Given the description of an element on the screen output the (x, y) to click on. 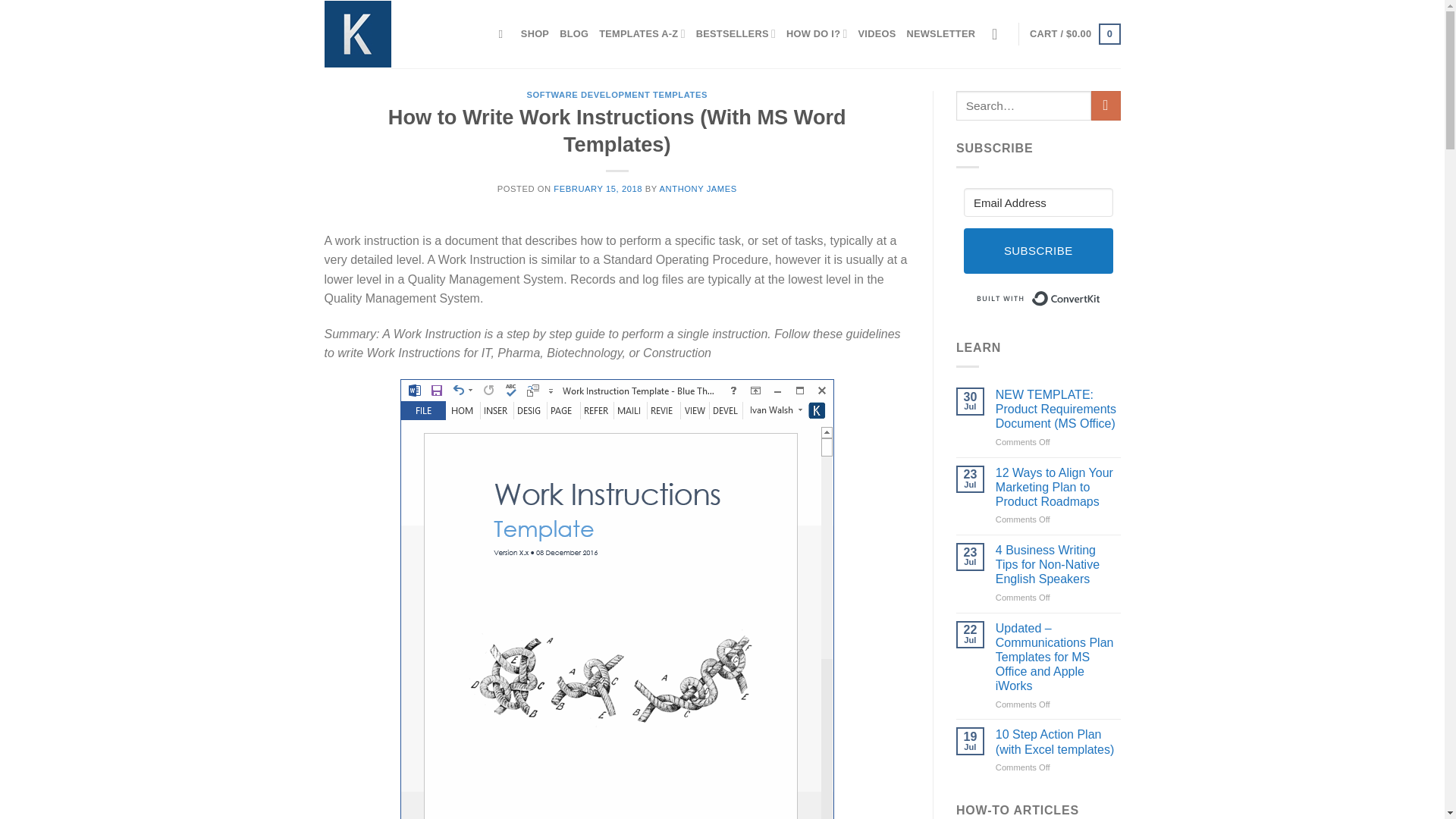
BESTSELLERS (735, 33)
HOW DO I? (816, 33)
BLOG (573, 33)
ANTHONY JAMES (697, 188)
TEMPLATES A-Z (641, 33)
SOFTWARE DEVELOPMENT TEMPLATES (615, 94)
SHOP (534, 33)
12 Ways to Align Your Marketing Plan to Product Roadmaps (1058, 487)
Cart (1074, 34)
FEBRUARY 15, 2018 (597, 188)
4 Business Writing Tips for Non-Native English Speakers (1058, 564)
VIDEOS (877, 33)
NEWSLETTER (940, 33)
